Given the description of an element on the screen output the (x, y) to click on. 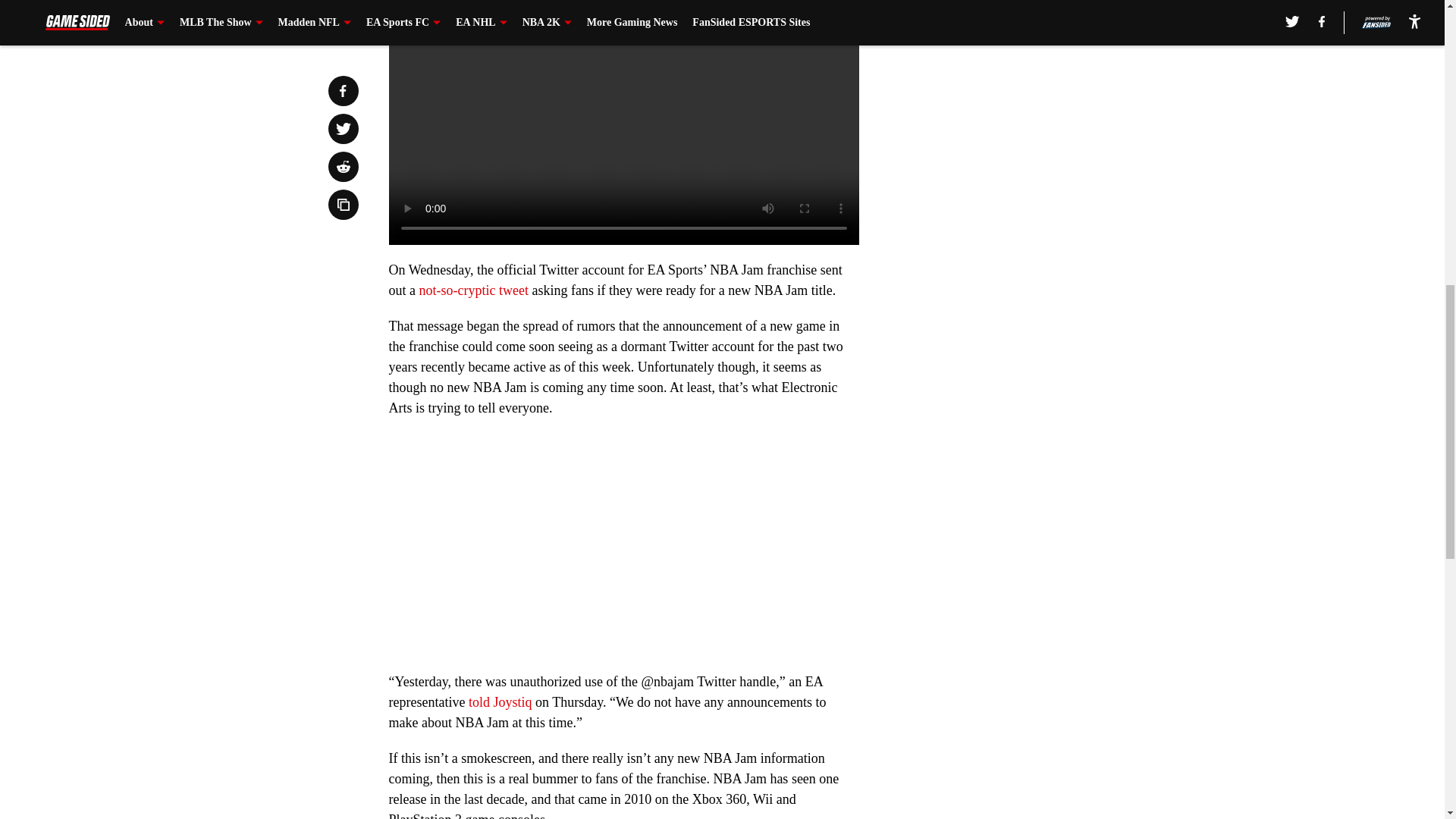
not-so-cryptic tweet (475, 290)
told Joystiq (500, 702)
3rd party ad content (1047, 84)
3rd party ad content (1047, 294)
